Given the description of an element on the screen output the (x, y) to click on. 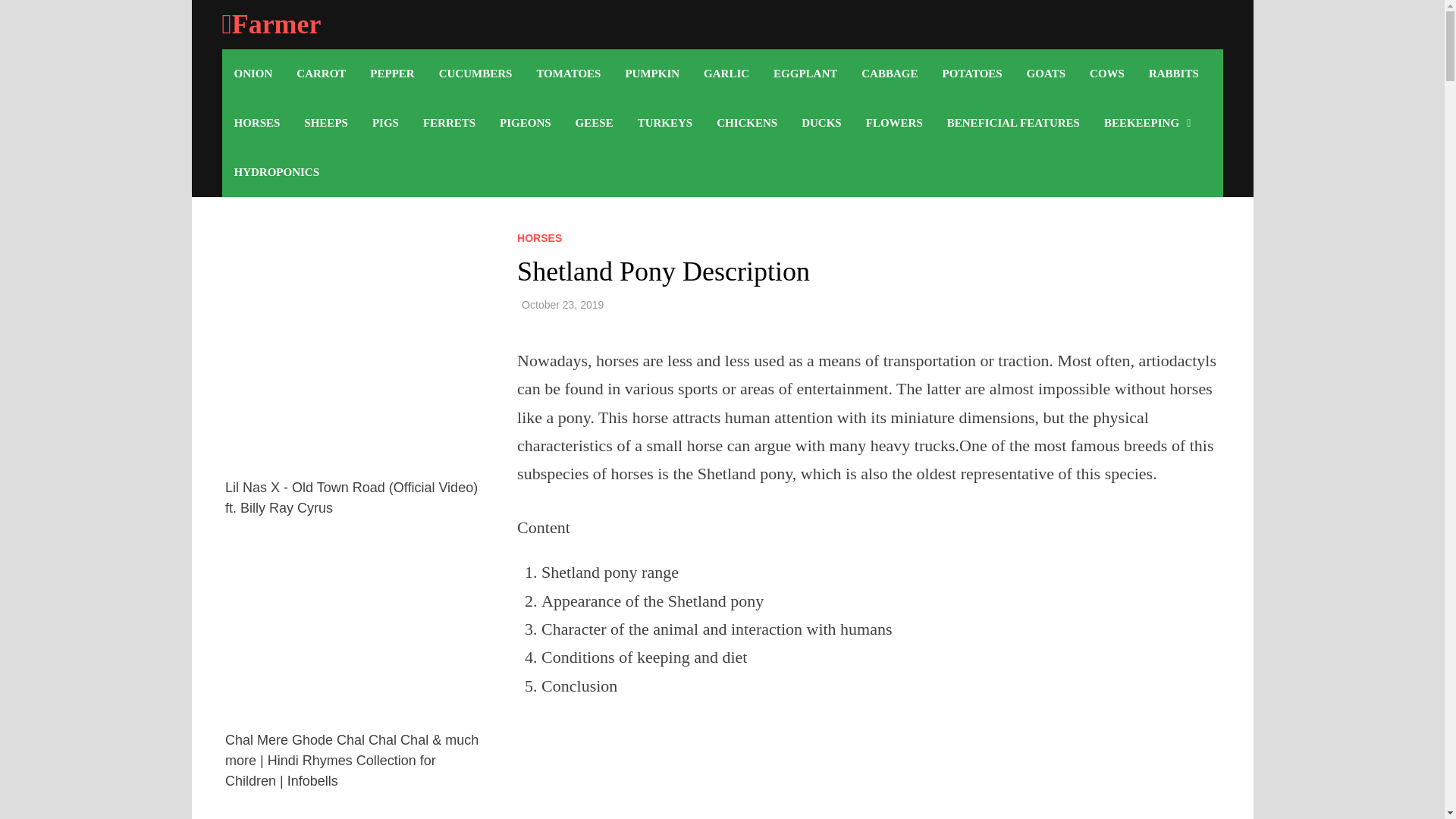
CHICKENS (746, 123)
FERRETS (448, 123)
COWS (1107, 73)
CABBAGE (889, 73)
ONION (252, 73)
HORSES (256, 123)
BENEFICIAL FEATURES (1013, 123)
BEEKEEPING (1147, 123)
GARLIC (726, 73)
GEESE (594, 123)
TOMATOES (568, 73)
PUMPKIN (651, 73)
PIGS (384, 123)
SHEEPS (325, 123)
PEPPER (392, 73)
